Given the description of an element on the screen output the (x, y) to click on. 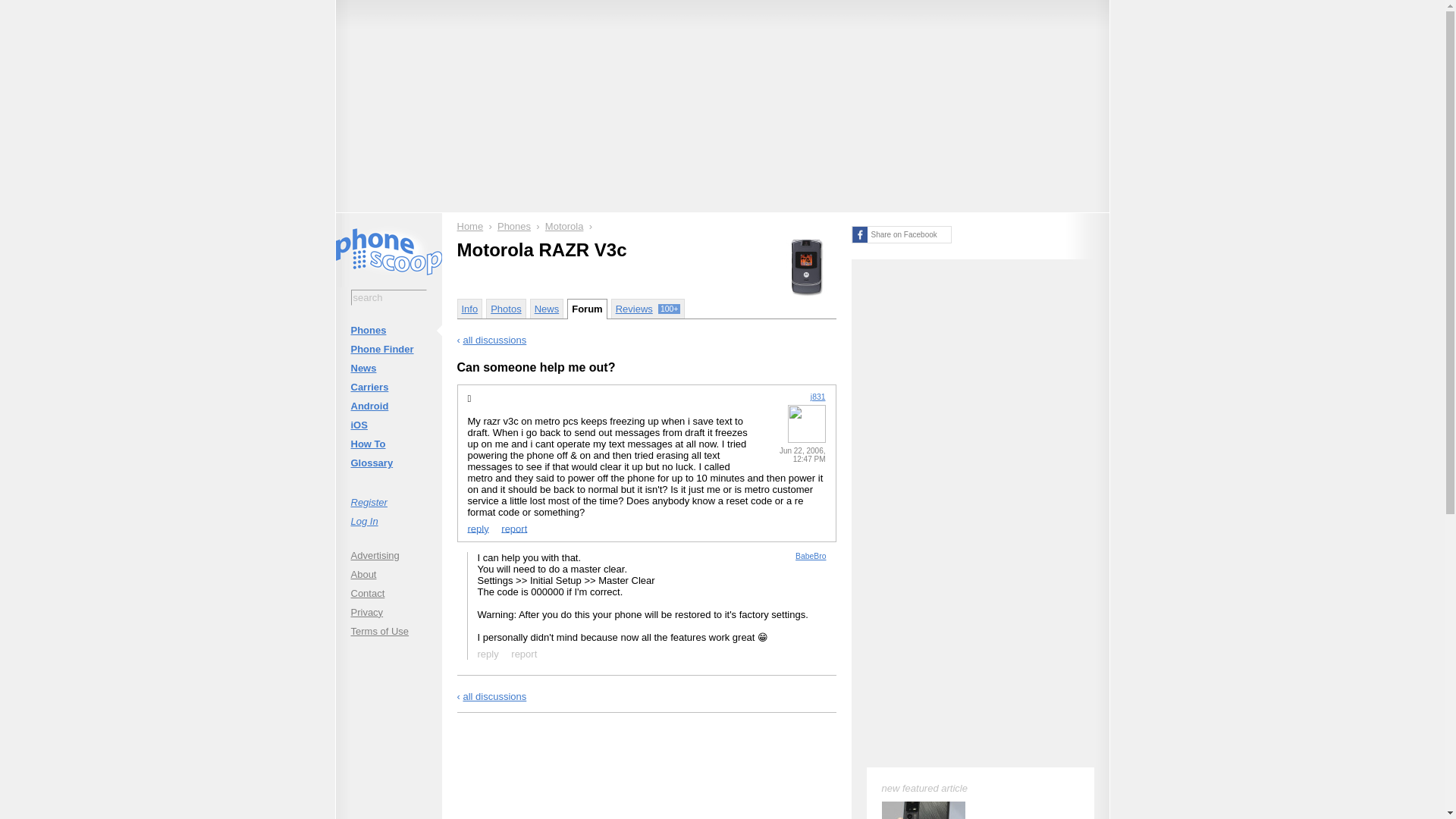
BabeBro (809, 556)
reply (478, 527)
Carriers (387, 386)
Advertising (387, 555)
Terms of Use (387, 630)
Glossary (387, 462)
Privacy (387, 610)
Home (470, 225)
News (387, 367)
report (523, 653)
